Given the description of an element on the screen output the (x, y) to click on. 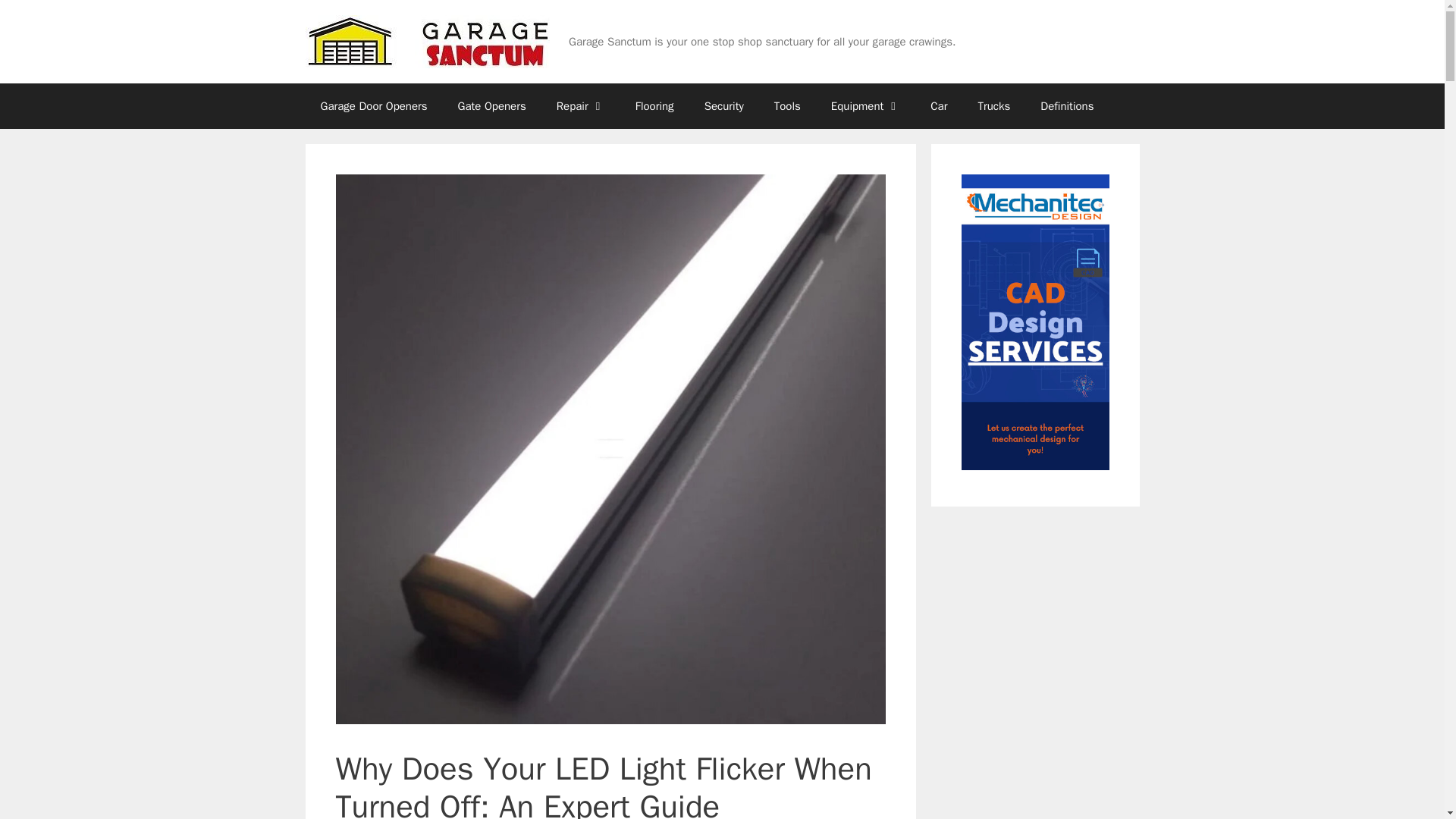
Equipment (865, 105)
Definitions (1066, 105)
Tools (786, 105)
Flooring (654, 105)
Repair (580, 105)
Security (723, 105)
Trucks (993, 105)
Gate Openers (491, 105)
Car (938, 105)
Garage Door Openers (373, 105)
